Given the description of an element on the screen output the (x, y) to click on. 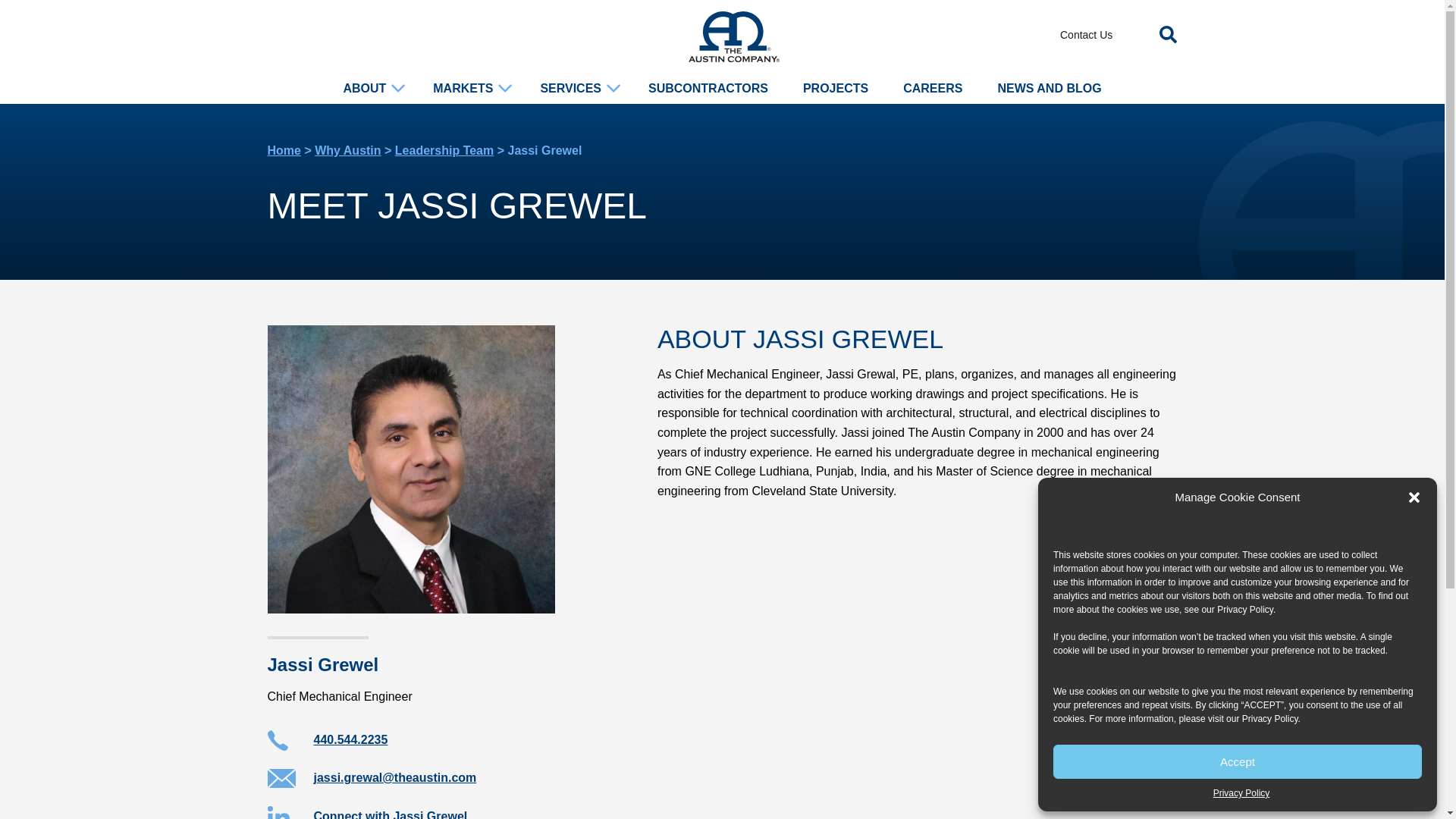
Accept (1237, 761)
Privacy Policy (1240, 793)
Privacy Policy (1244, 609)
